Given the description of an element on the screen output the (x, y) to click on. 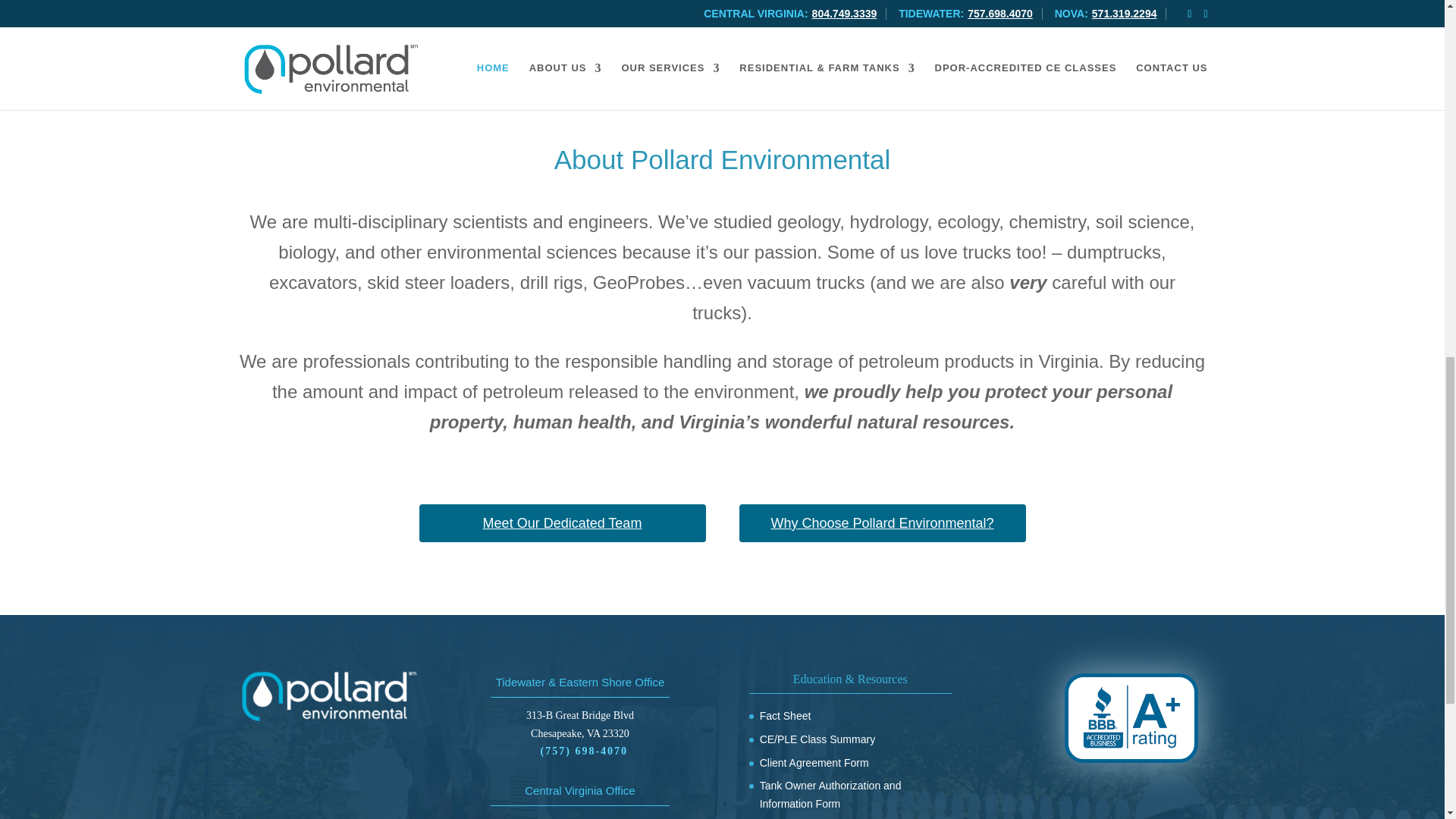
Open Pollard Environmental on Google Maps (579, 724)
Call Pollard Environmental's Chesapeake Location (584, 751)
